Given the description of an element on the screen output the (x, y) to click on. 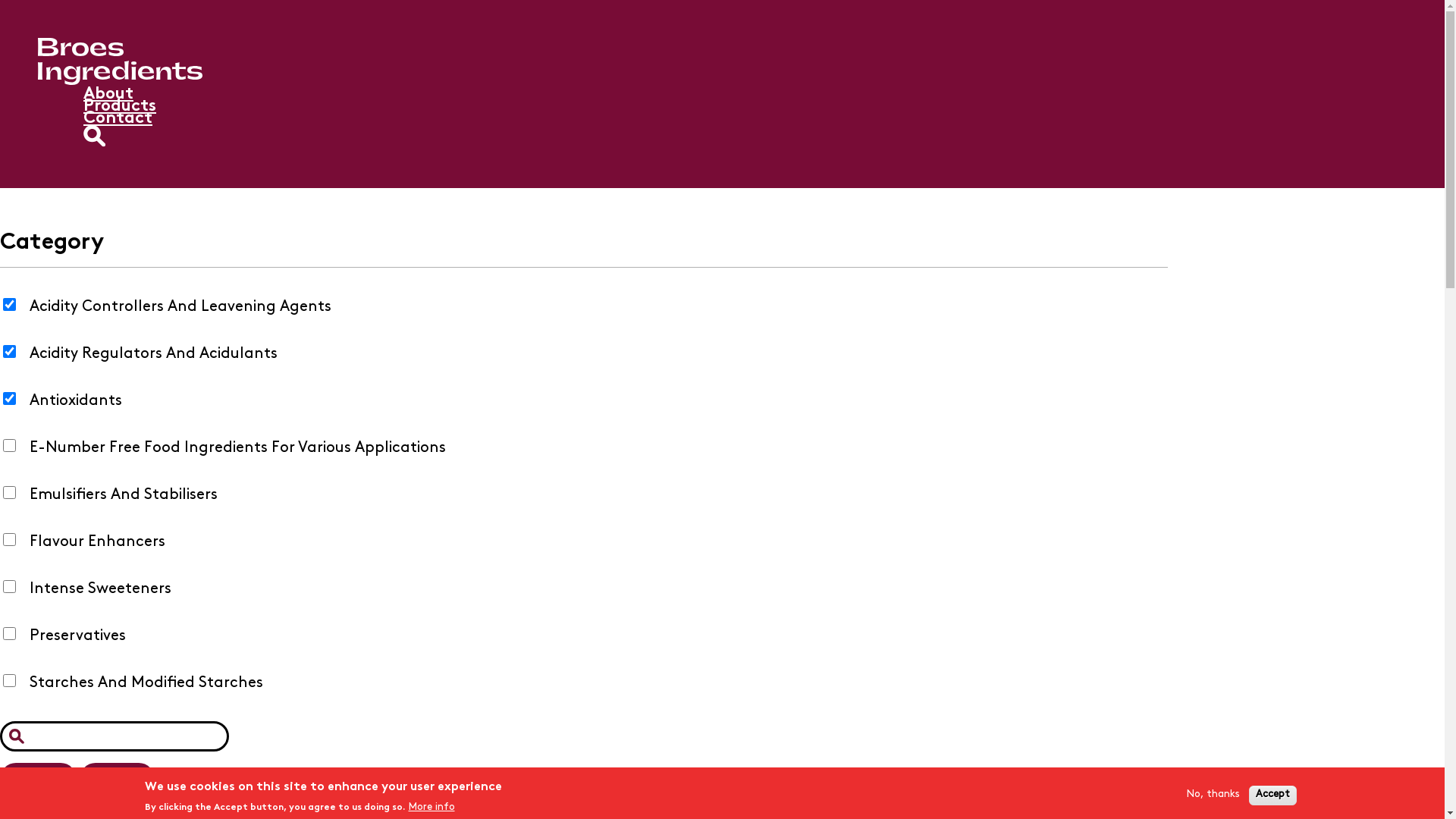
Contact Element type: text (117, 118)
Apply Element type: text (38, 778)
About Element type: text (108, 94)
No, thanks Element type: text (1212, 794)
More info Element type: text (430, 806)
Skip to main content Element type: text (0, 0)
Reset Element type: text (116, 778)
Accept Element type: text (1271, 794)
Products Element type: text (119, 106)
